Given the description of an element on the screen output the (x, y) to click on. 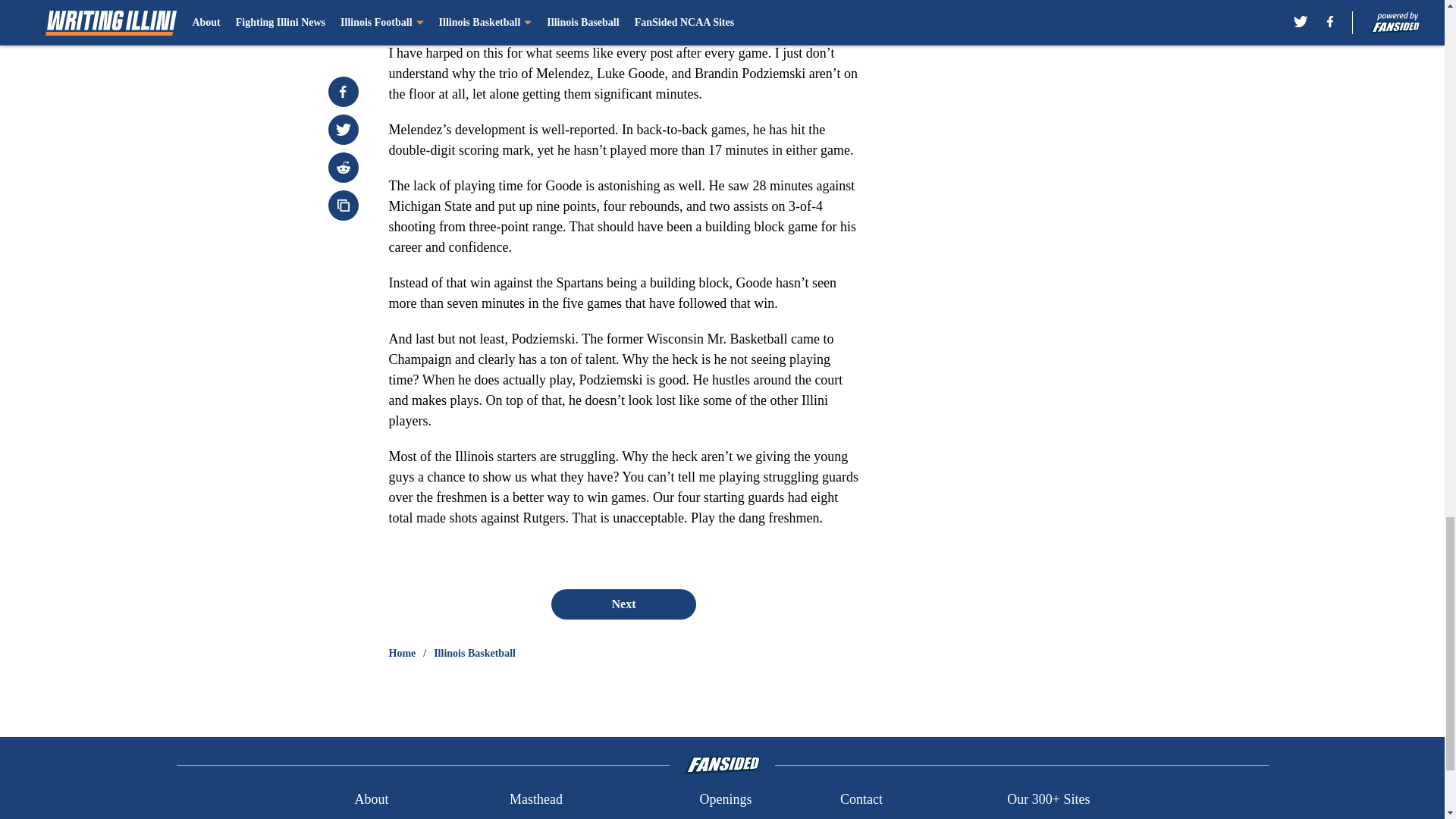
Illinois Basketball (474, 653)
Next (622, 603)
Cookie Policy (1045, 818)
Masthead (535, 799)
FanSided Daily (396, 818)
Terms of Use (877, 818)
Pitch a Story (544, 818)
Privacy Policy (738, 818)
Contact (861, 799)
Openings (724, 799)
Home (401, 653)
About (370, 799)
